Given the description of an element on the screen output the (x, y) to click on. 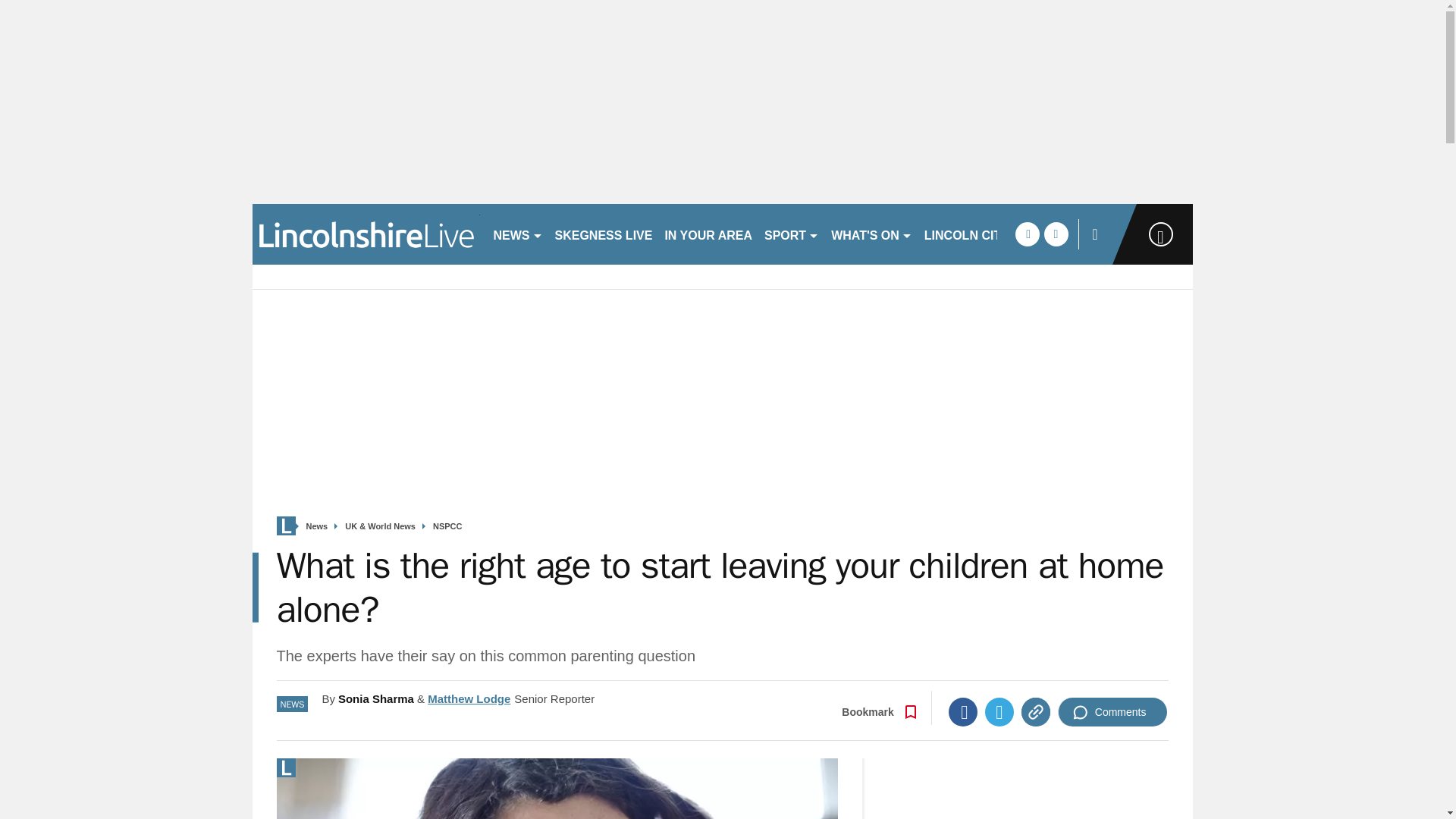
NEWS (517, 233)
Facebook (962, 711)
lincolnshirelive (365, 233)
LINCOLN CITY FC (975, 233)
SPORT (791, 233)
Comments (1112, 711)
twitter (1055, 233)
facebook (1026, 233)
SKEGNESS LIVE (603, 233)
Twitter (999, 711)
IN YOUR AREA (708, 233)
WHAT'S ON (871, 233)
